Given the description of an element on the screen output the (x, y) to click on. 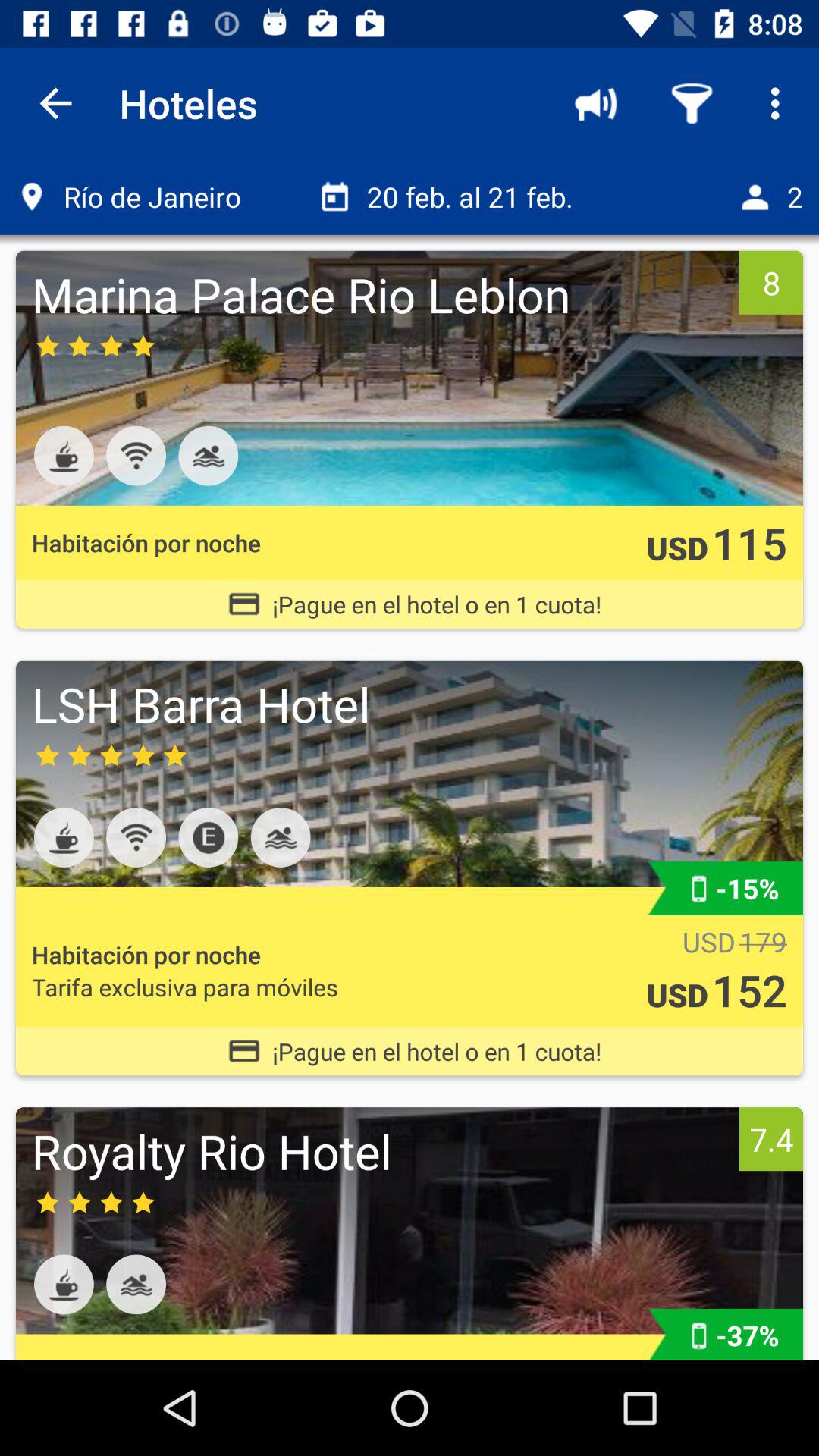
tap the item next to the usd (749, 542)
